Given the description of an element on the screen output the (x, y) to click on. 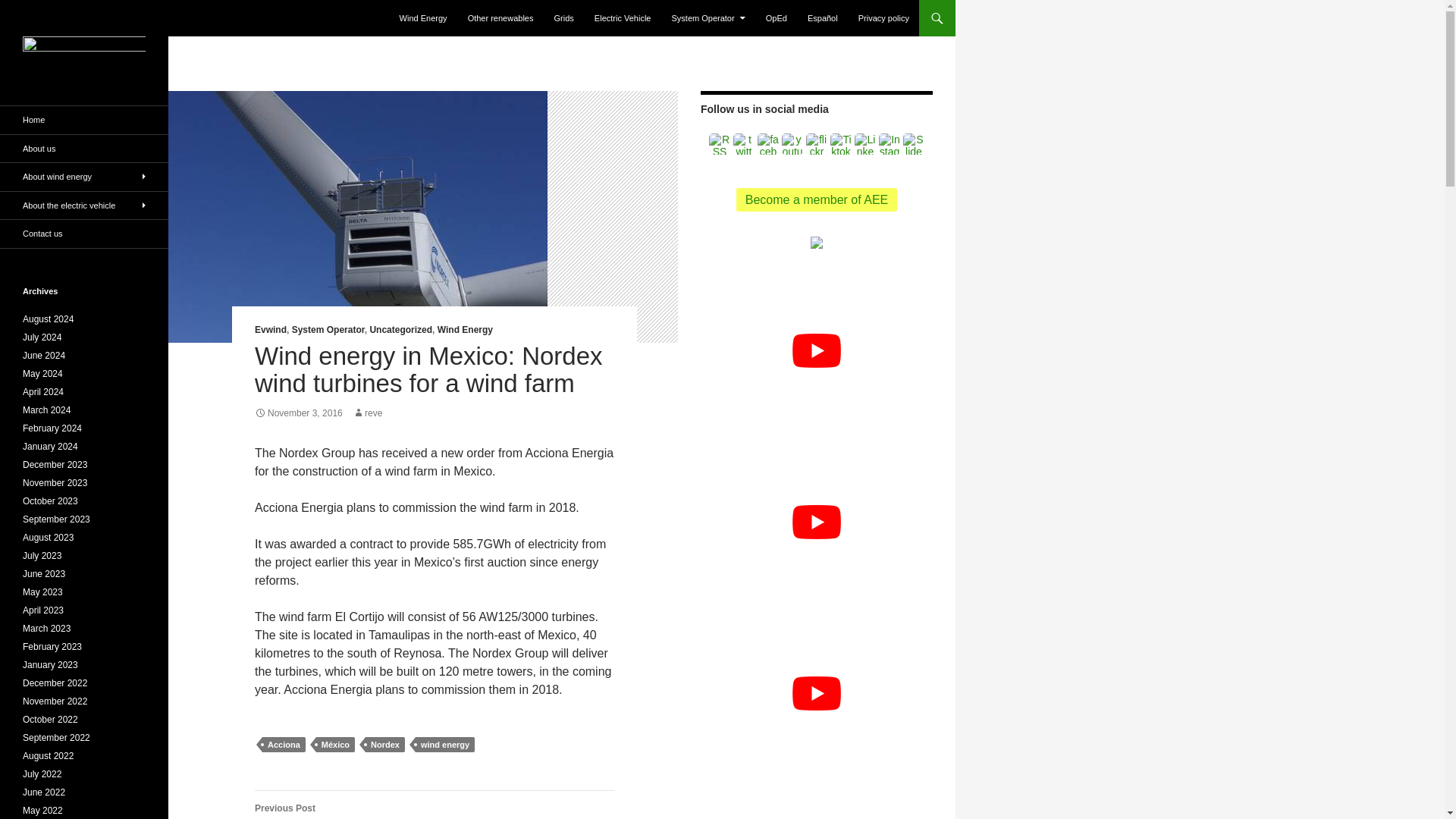
Uncategorized (400, 329)
facebook (767, 143)
wind energy (444, 744)
youtube (792, 143)
Nordex (384, 744)
reve (366, 412)
LinkedIn (865, 143)
flickr (816, 143)
RSS (719, 143)
November 3, 2016 (298, 412)
